Given the description of an element on the screen output the (x, y) to click on. 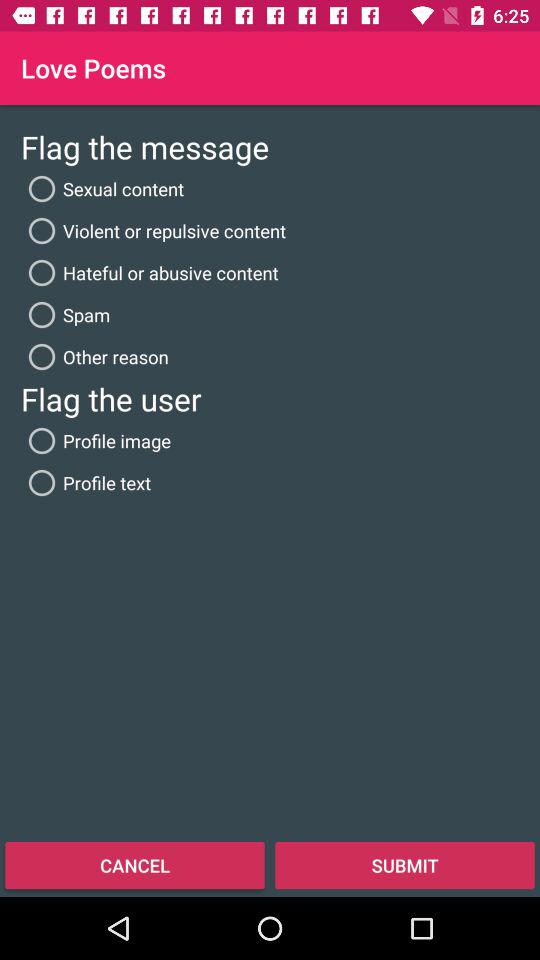
turn on the icon above cancel (86, 482)
